Given the description of an element on the screen output the (x, y) to click on. 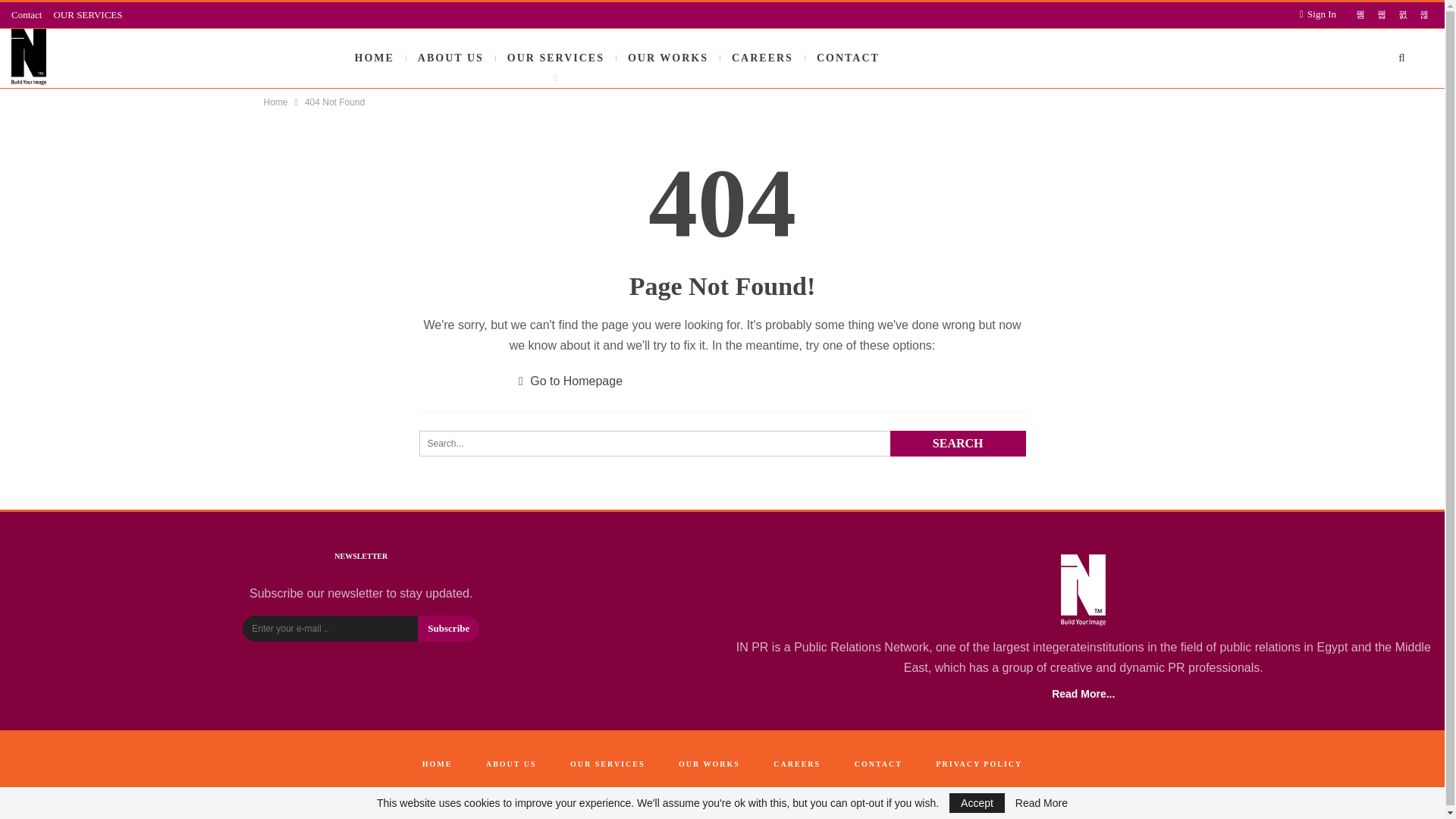
Sign In (1321, 13)
HOME (374, 57)
ABOUT US (450, 57)
Search (957, 443)
Contact (26, 14)
OUR SERVICES (555, 57)
CONTACT (848, 57)
Search (957, 443)
Search for: (722, 443)
Search (957, 443)
OUR WORKS (667, 57)
Read More... (1083, 693)
CAREERS (762, 57)
OUR SERVICES (87, 14)
Home (275, 102)
